Given the description of an element on the screen output the (x, y) to click on. 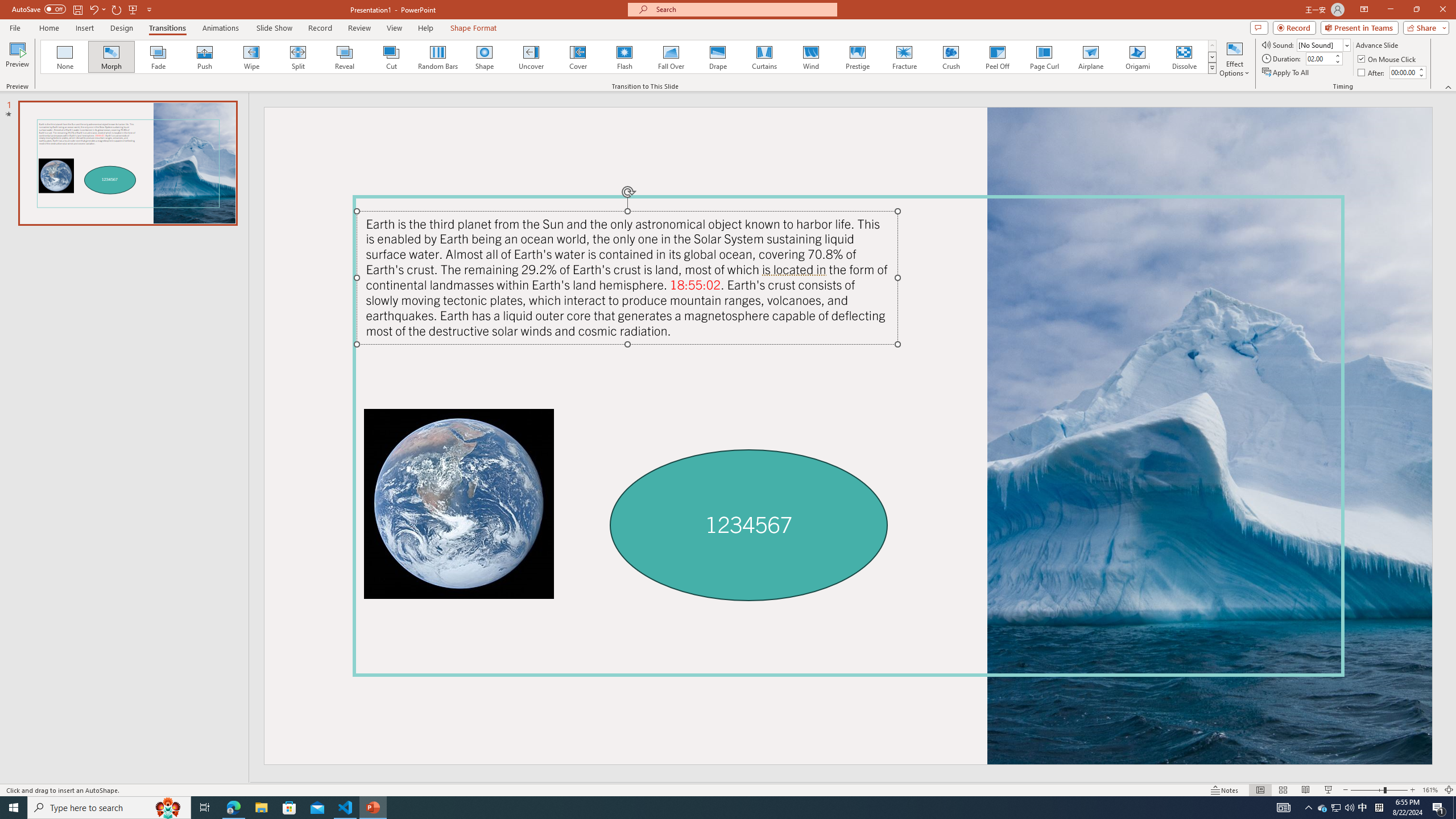
Fracture (903, 56)
Crush (950, 56)
Reveal (344, 56)
Uncover (531, 56)
Apply To All (1286, 72)
On Mouse Click (1387, 58)
Dissolve (1183, 56)
